Given the description of an element on the screen output the (x, y) to click on. 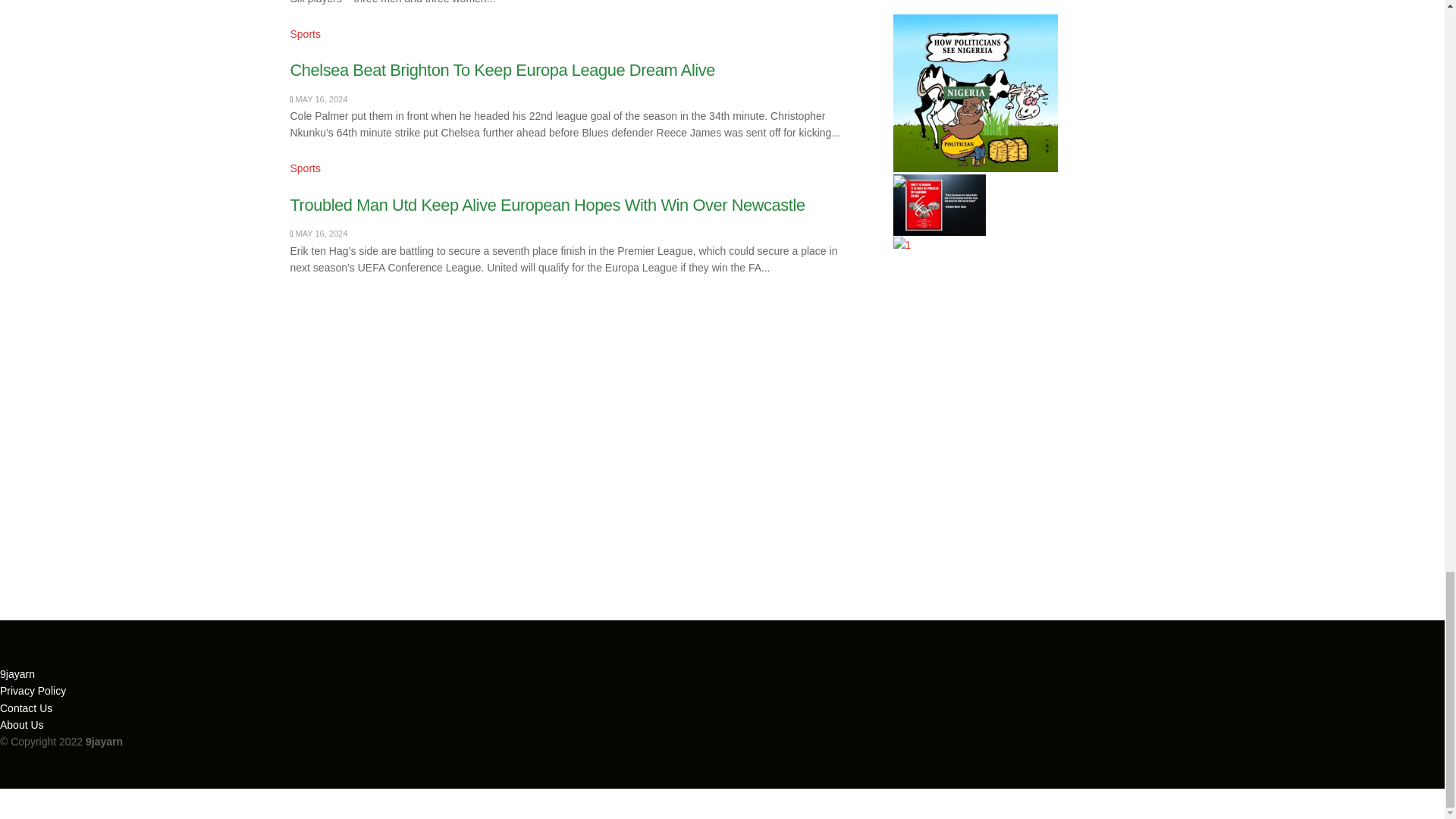
1 (902, 244)
4 (975, 92)
6 (902, 183)
2 (939, 204)
